Given the description of an element on the screen output the (x, y) to click on. 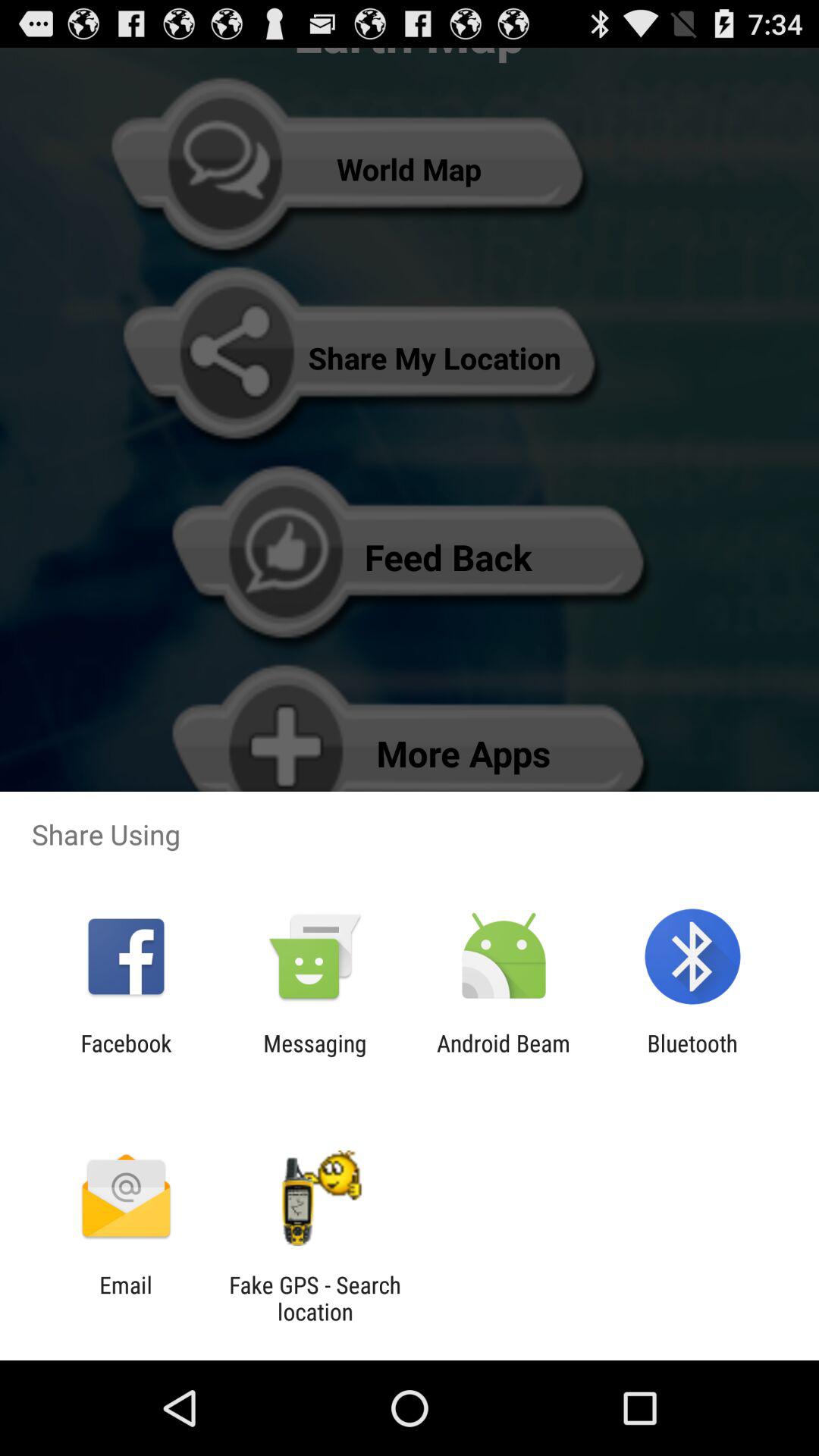
turn off the icon next to the facebook (314, 1056)
